Given the description of an element on the screen output the (x, y) to click on. 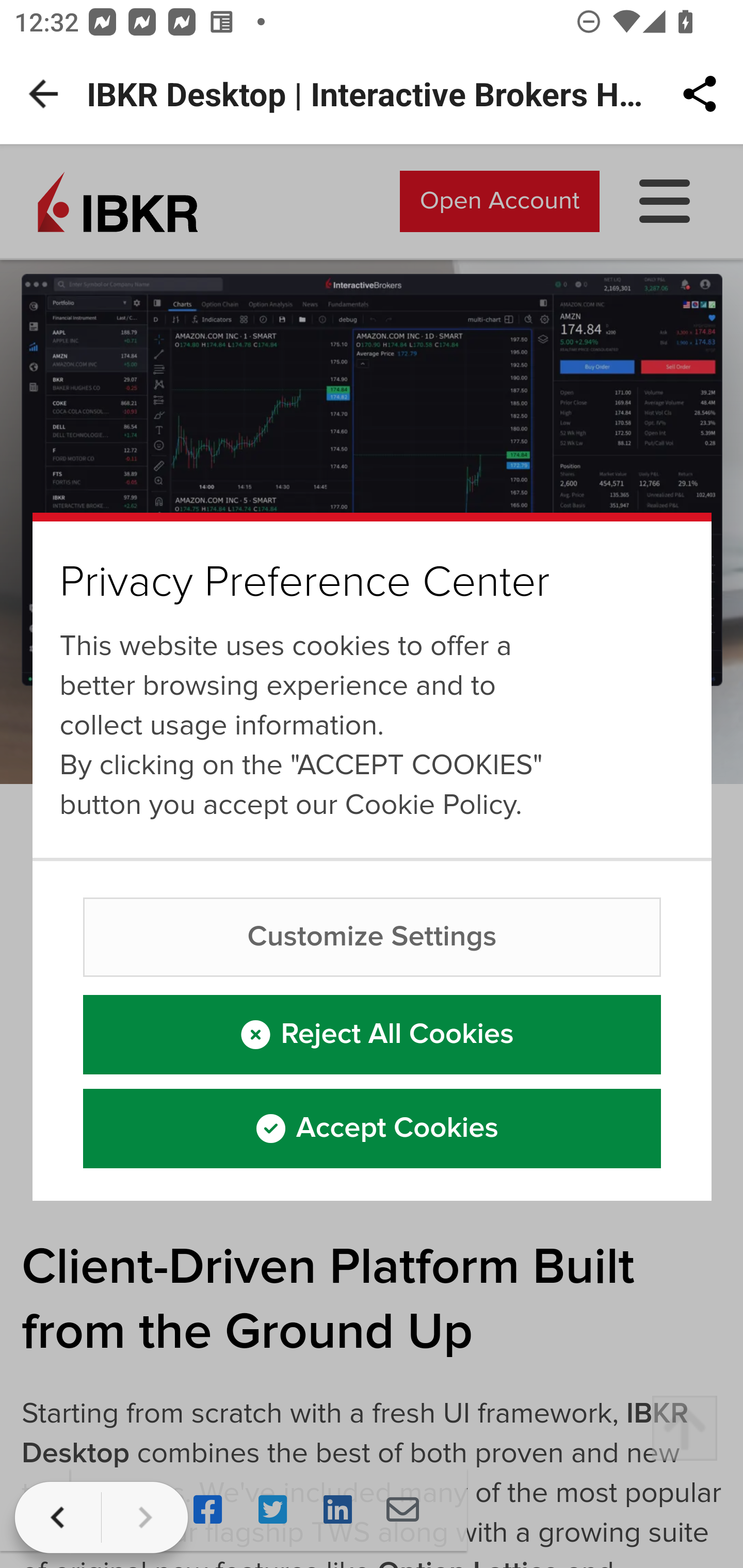
Customize Settings (372, 937)
 Reject All Cookies  Reject All Cookies (372, 1034)
 Accept Cookies  Accept Cookies (372, 1128)
